Given the description of an element on the screen output the (x, y) to click on. 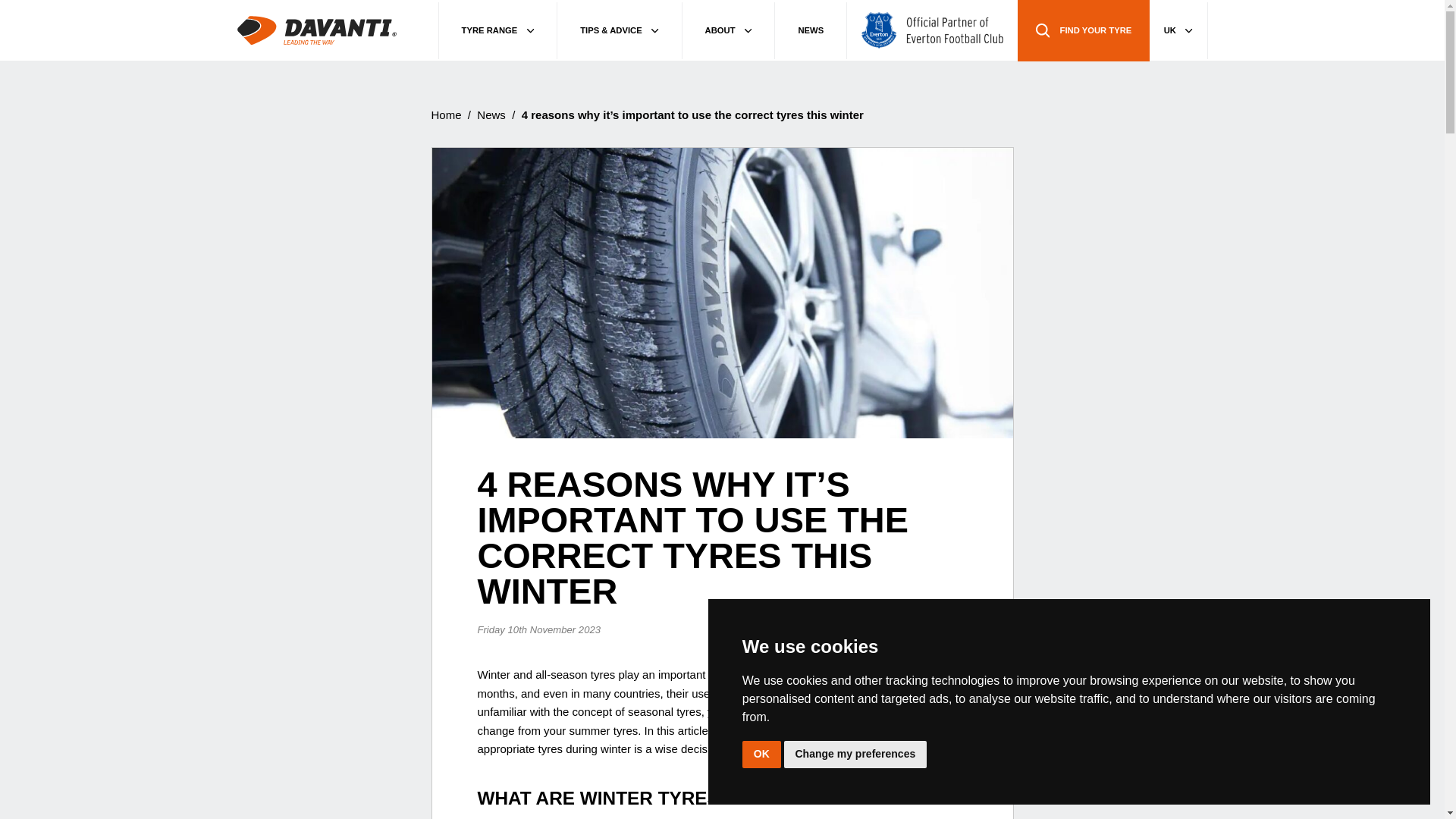
Change my preferences (855, 753)
TYRE RANGE (497, 29)
NEWS (810, 29)
OK (761, 753)
ABOUT (729, 29)
